Given the description of an element on the screen output the (x, y) to click on. 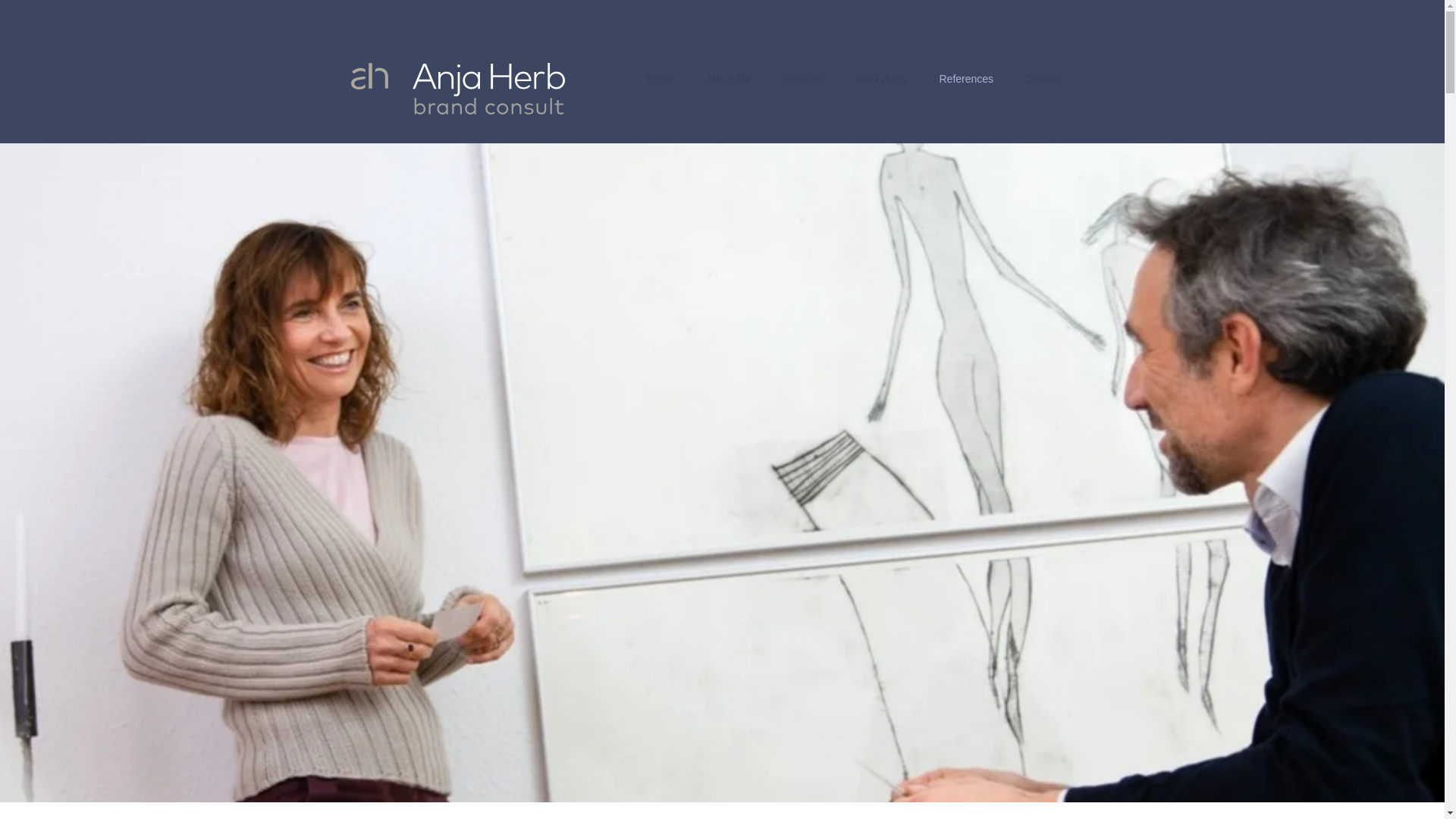
About Me (728, 78)
Workshops (882, 78)
References (966, 78)
Home (660, 78)
Contact (1044, 78)
Services (803, 78)
